Given the description of an element on the screen output the (x, y) to click on. 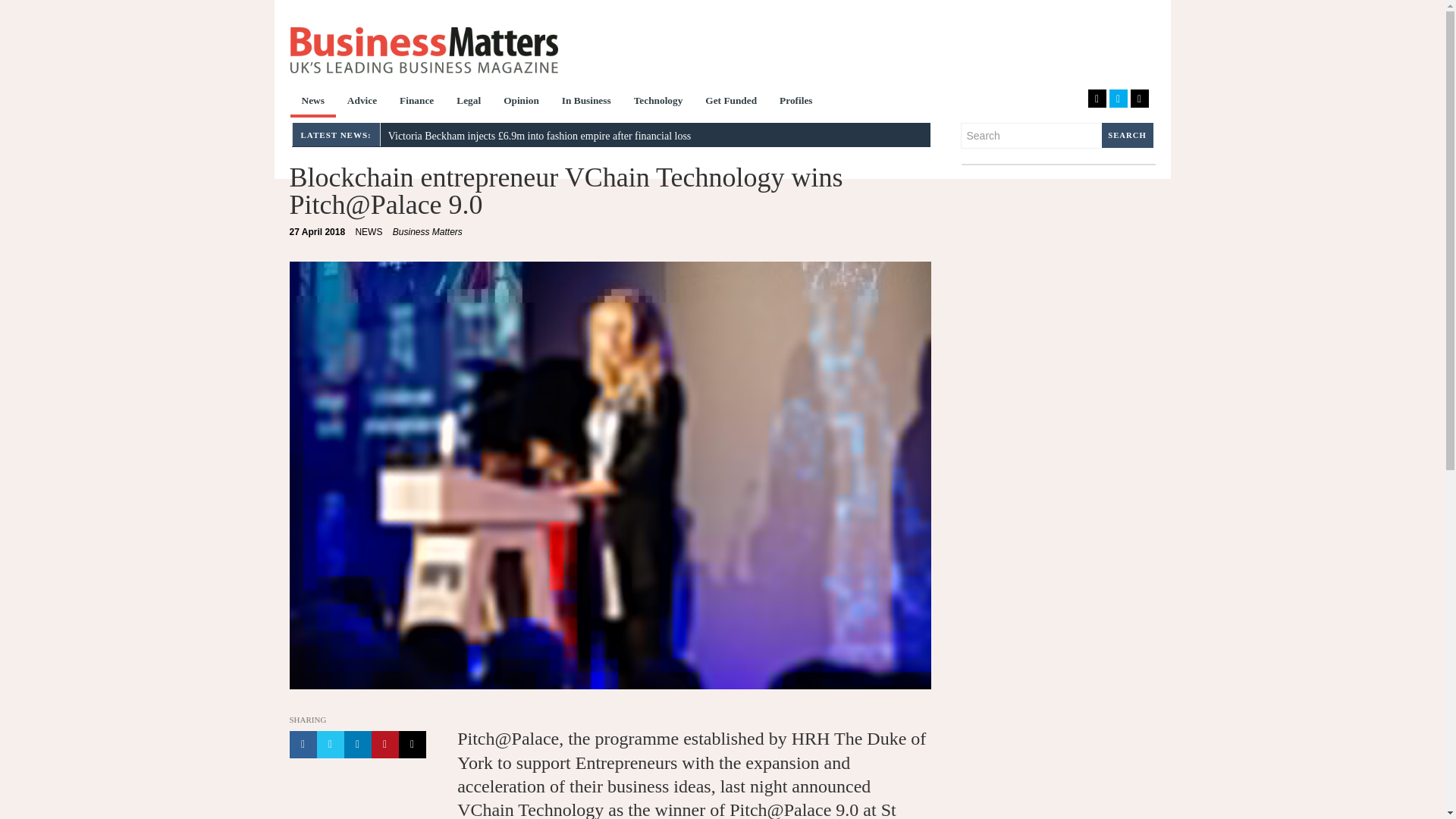
Get Funded (731, 101)
In Business (586, 101)
NEWS (368, 231)
Legal (468, 101)
Opinion (521, 101)
Advice (362, 101)
Profiles (796, 101)
Business Matters (423, 50)
Technology (658, 101)
News (311, 101)
